Given the description of an element on the screen output the (x, y) to click on. 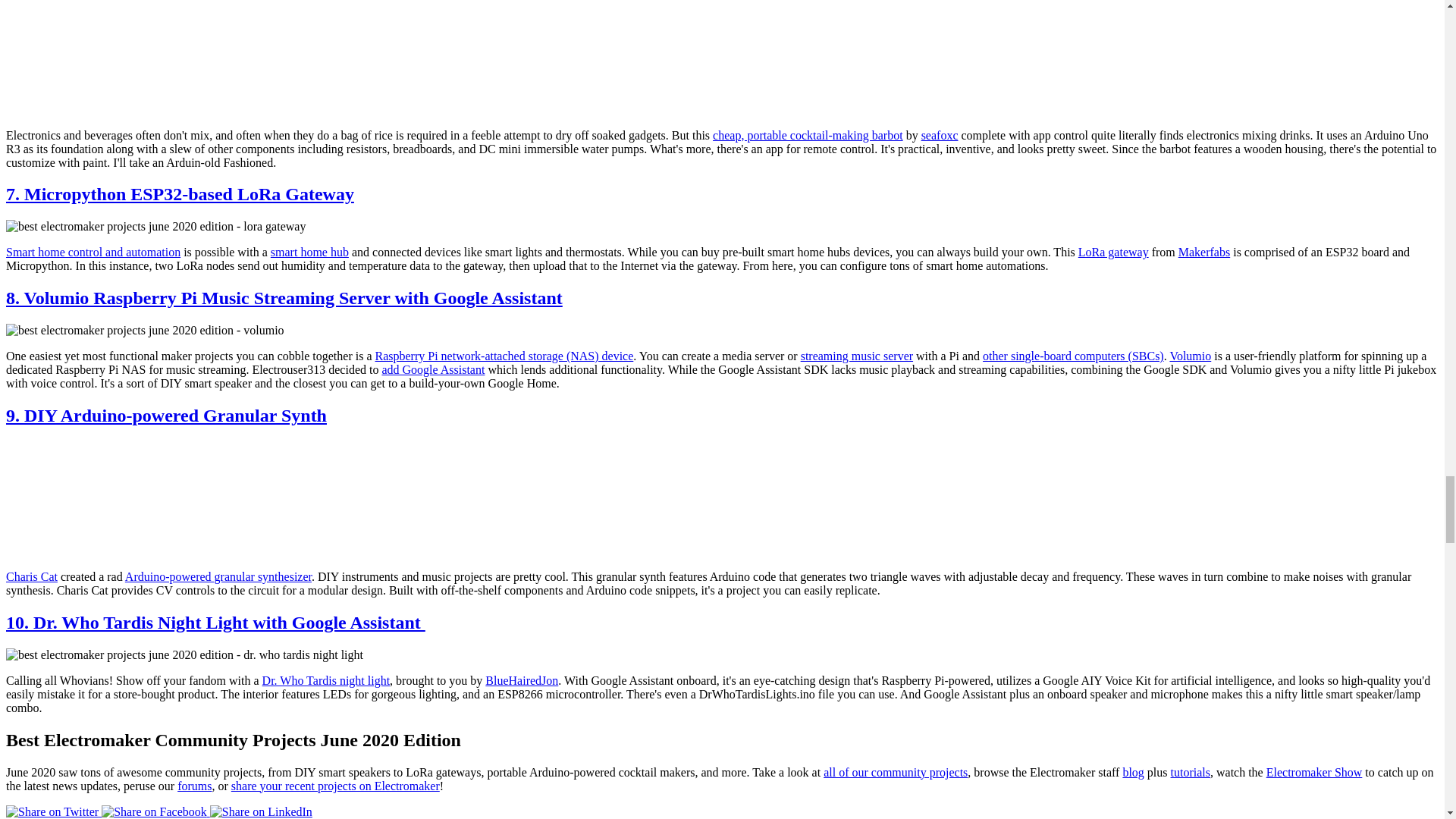
Share on LinkedIn (261, 811)
Share on Twitter (53, 811)
Share on Facebook (155, 811)
